Given the description of an element on the screen output the (x, y) to click on. 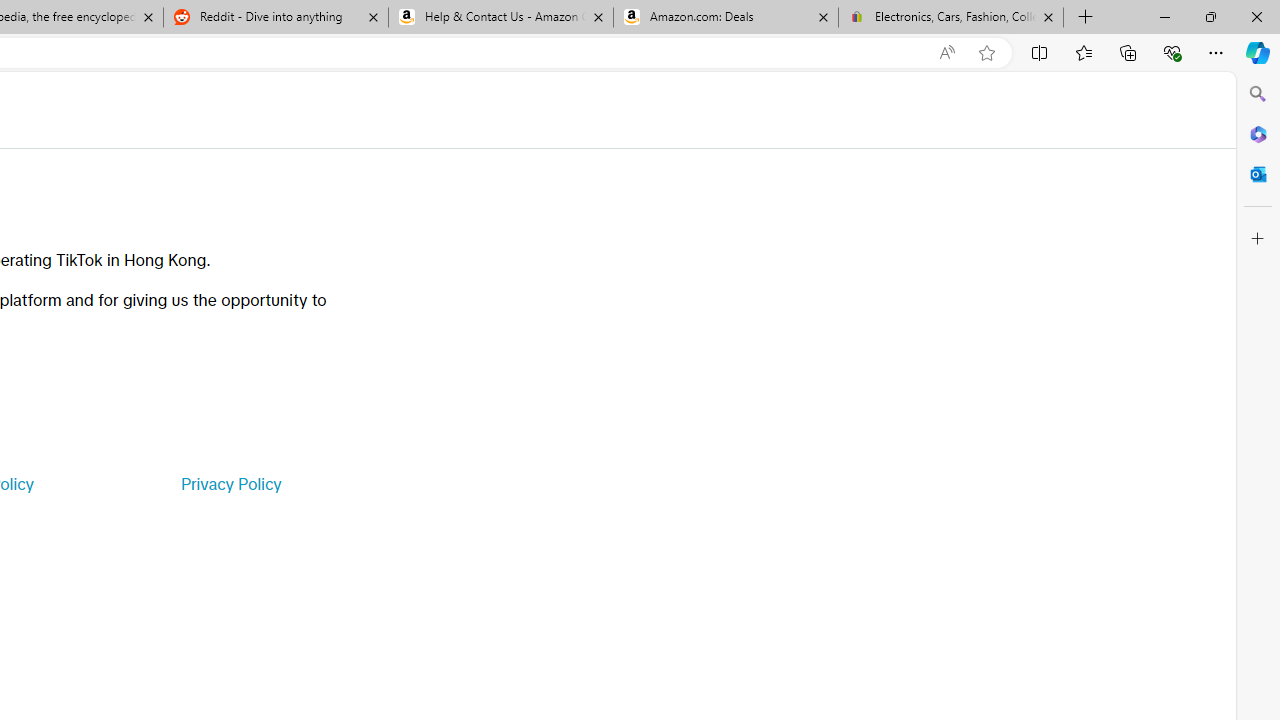
Amazon.com: Deals (726, 17)
Help & Contact Us - Amazon Customer Service (501, 17)
